Given the description of an element on the screen output the (x, y) to click on. 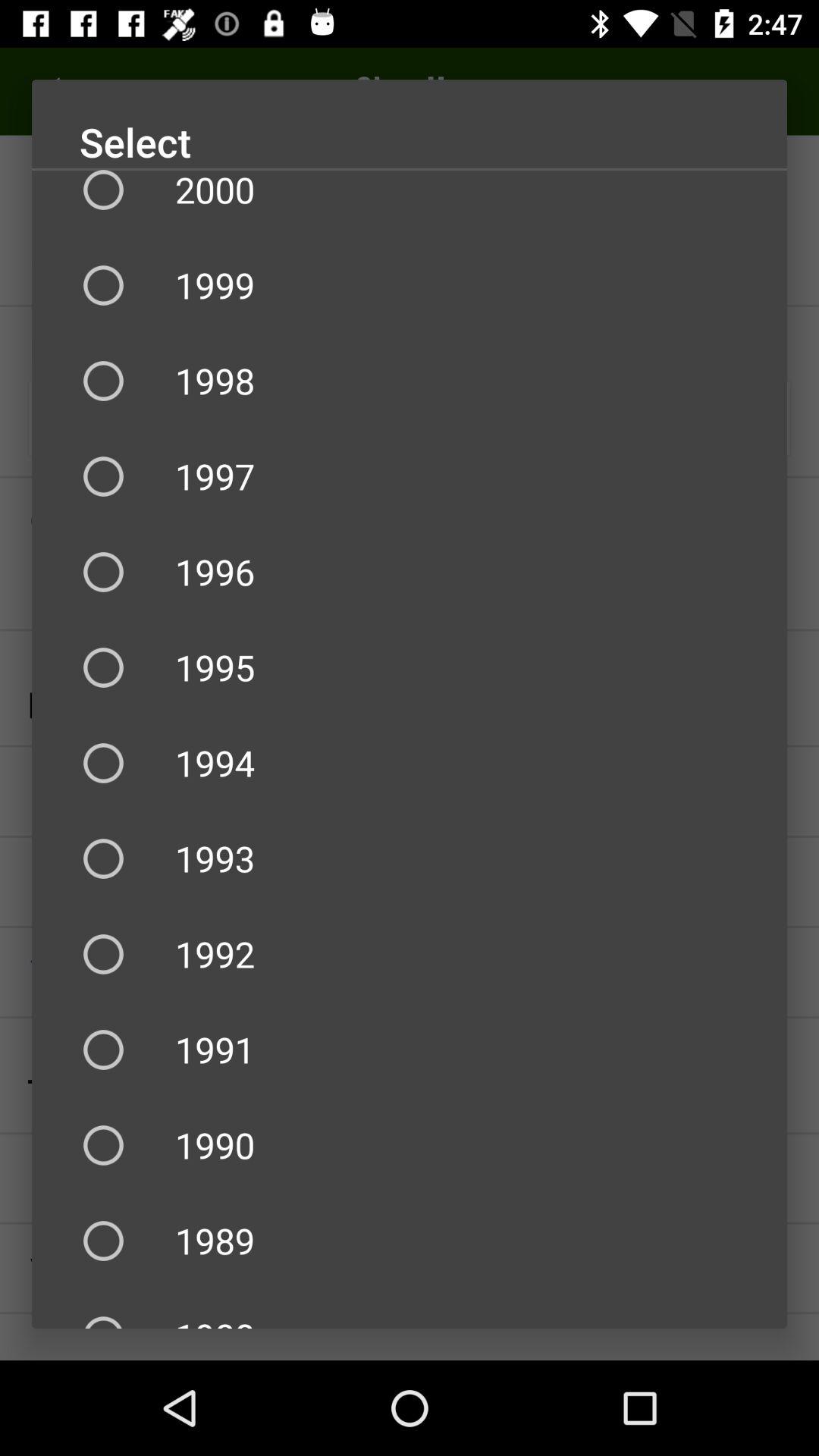
flip until the 1993 icon (409, 858)
